Given the description of an element on the screen output the (x, y) to click on. 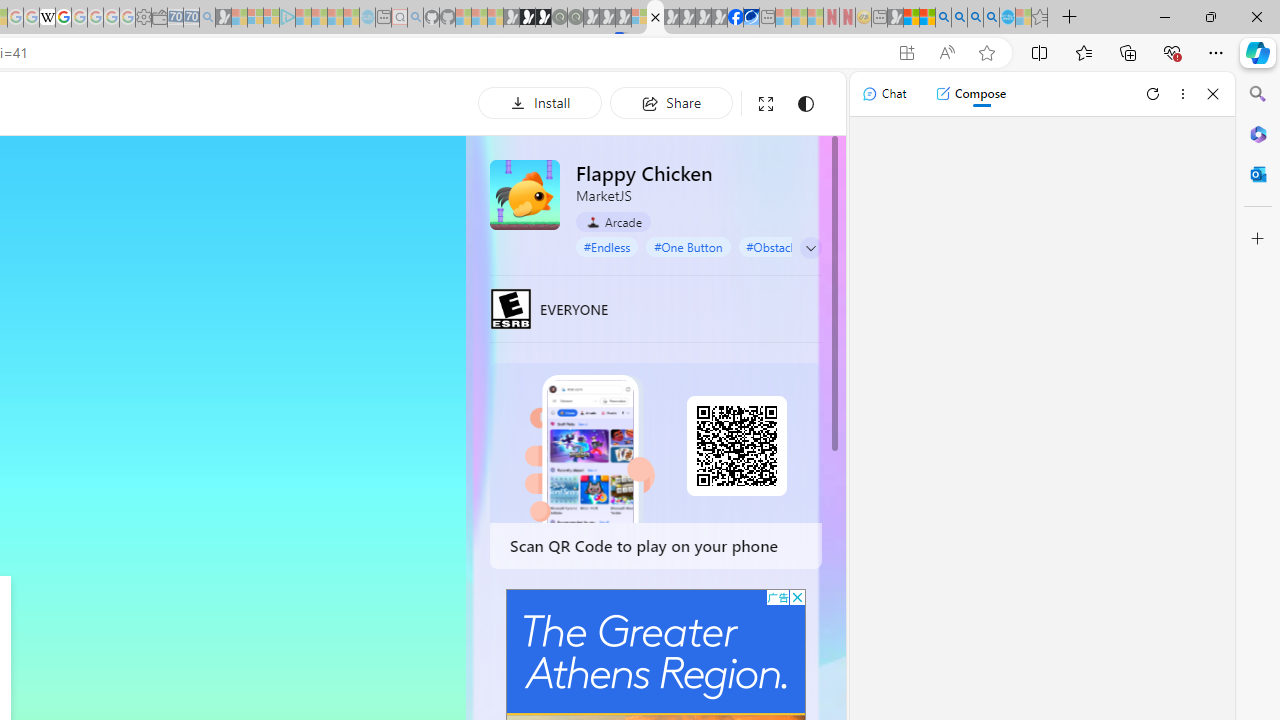
Share (671, 102)
Target page - Wikipedia (47, 17)
Install (540, 102)
Sign in to your account - Sleeping (639, 17)
Play Zoo Boom in your browser | Games from Microsoft Start (527, 17)
